Given the description of an element on the screen output the (x, y) to click on. 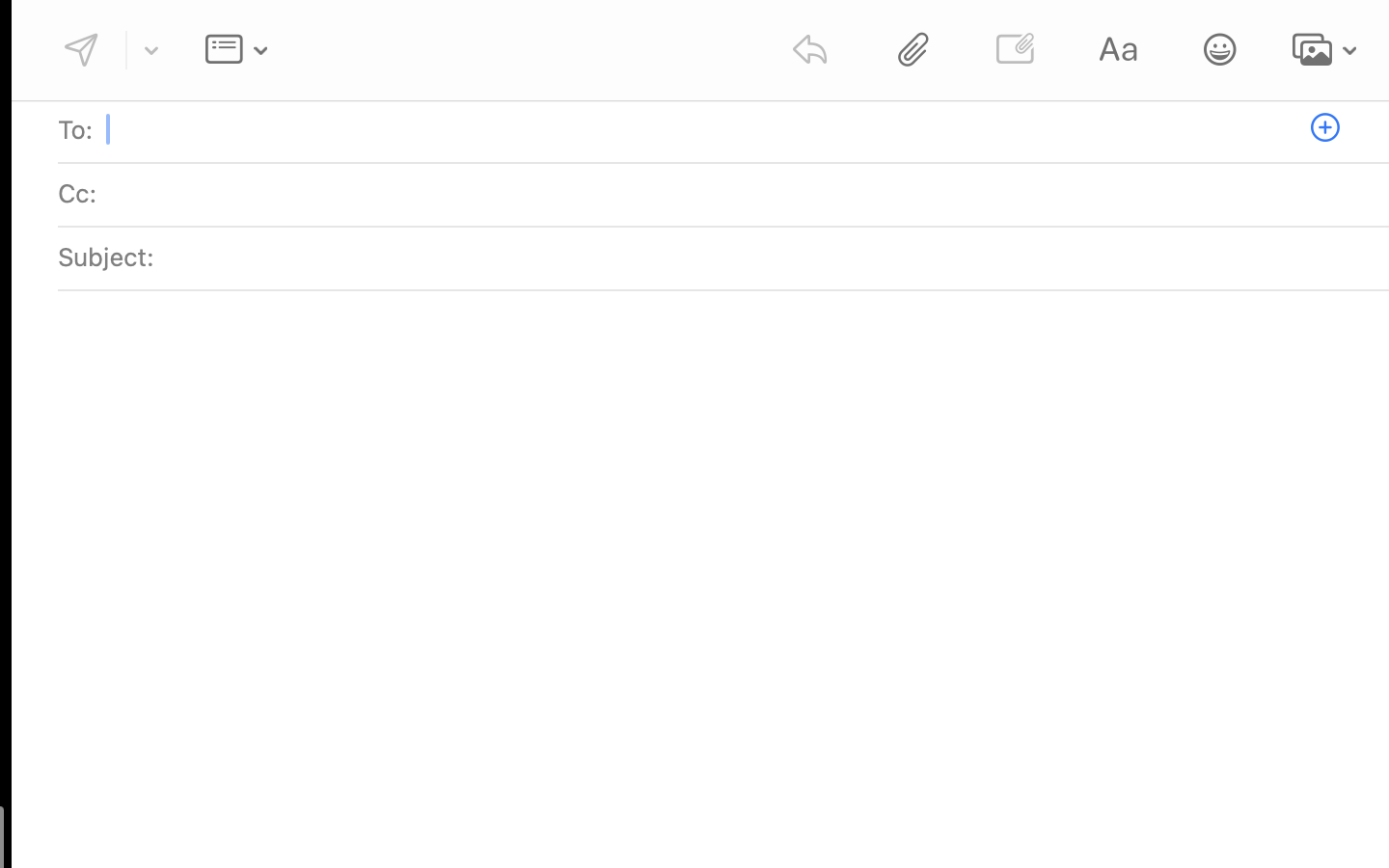
To: Element type: AXStaticText (75, 128)
Cc: Element type: AXStaticText (77, 192)
Subject: Element type: AXStaticText (106, 256)
